Given the description of an element on the screen output the (x, y) to click on. 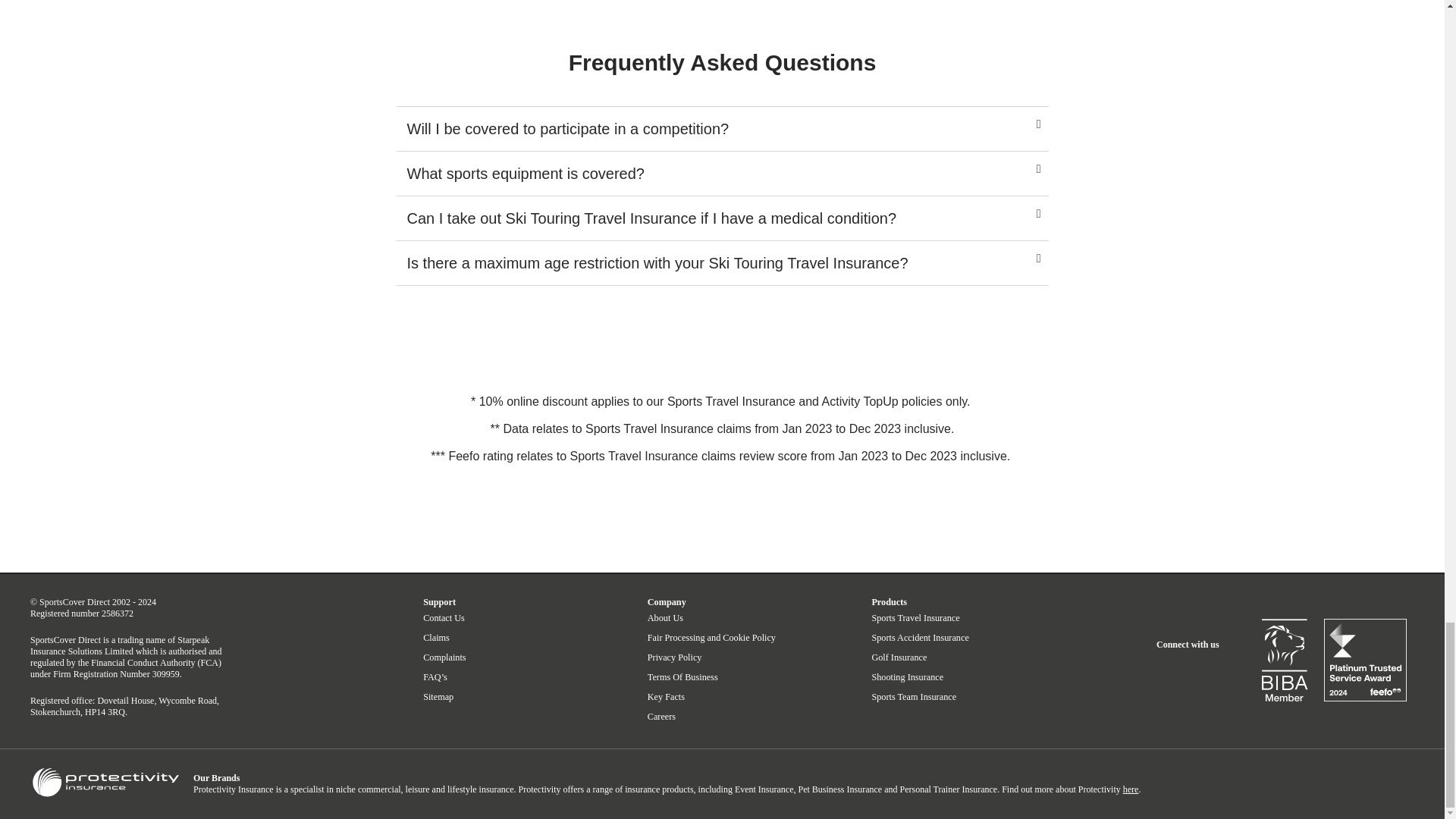
Contact Us (443, 617)
Will I be covered to participate in a competition? (567, 128)
Support (439, 602)
What sports equipment is covered? (525, 173)
